Given the description of an element on the screen output the (x, y) to click on. 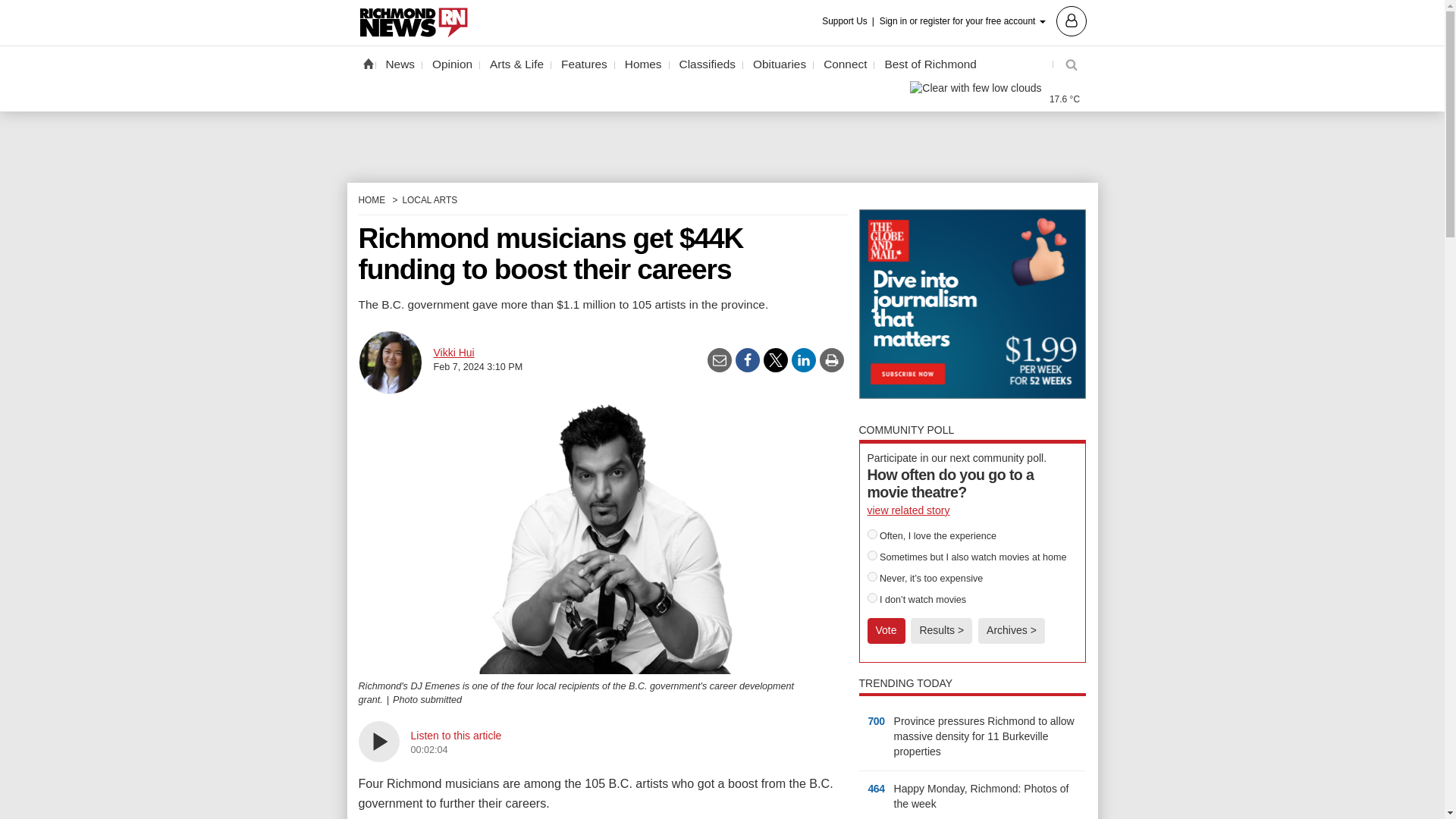
Home (367, 63)
122604 (872, 555)
Has a gallery (945, 804)
122603 (872, 533)
News (400, 64)
Sign in or register for your free account (982, 20)
Opinion (452, 64)
Support Us (849, 21)
122605 (872, 576)
122606 (872, 597)
